Given the description of an element on the screen output the (x, y) to click on. 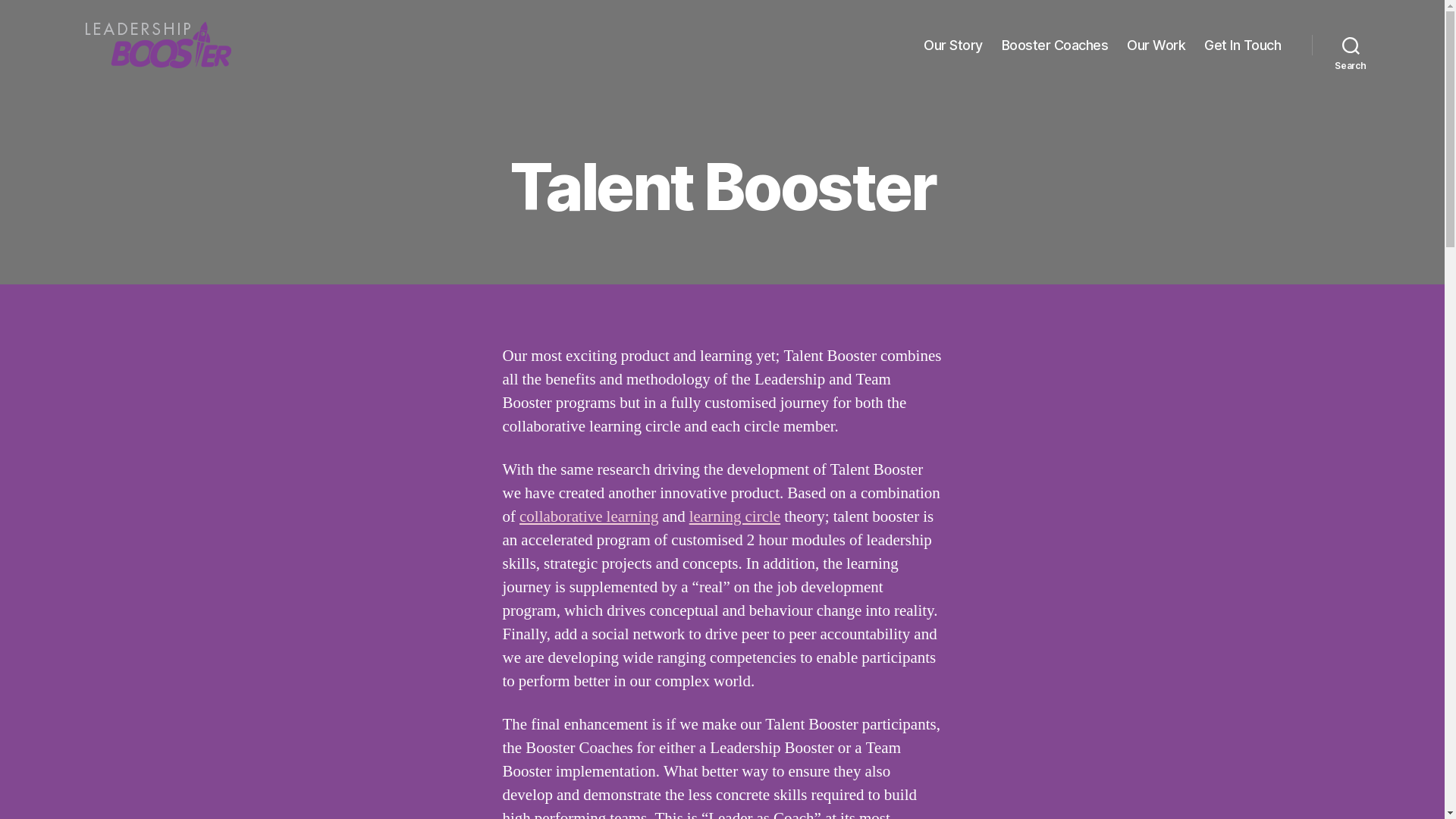
learning circle Element type: text (734, 516)
collaborative learning Element type: text (588, 516)
Our Story Element type: text (952, 45)
Booster Coaches Element type: text (1054, 45)
Our Work Element type: text (1155, 45)
Search Element type: text (1350, 45)
Get In Touch Element type: text (1242, 45)
